Given the description of an element on the screen output the (x, y) to click on. 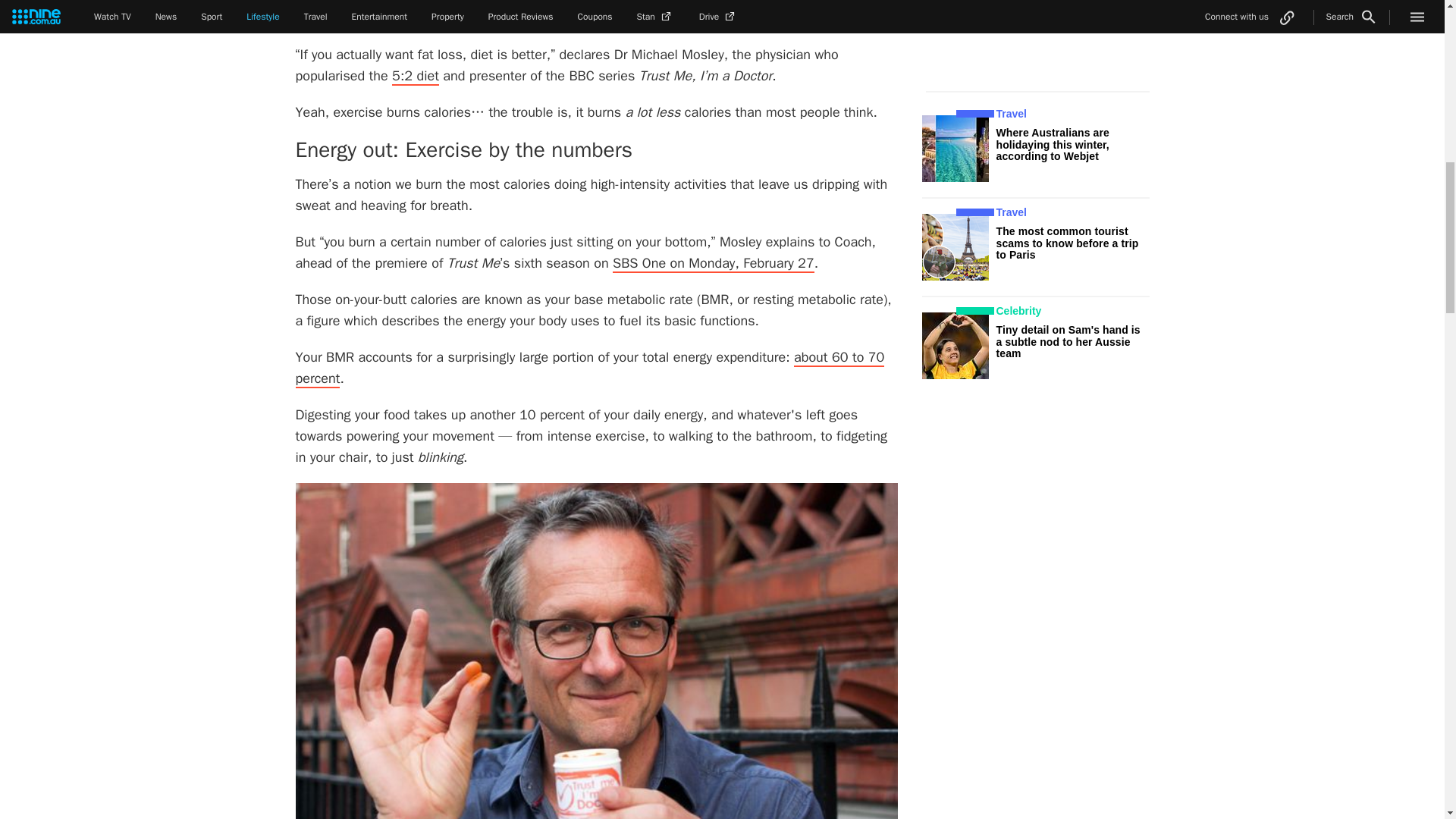
5:2 diet (415, 76)
about 60 to 70 percent (590, 368)
SBS One on Monday, February 27 (712, 263)
